Given the description of an element on the screen output the (x, y) to click on. 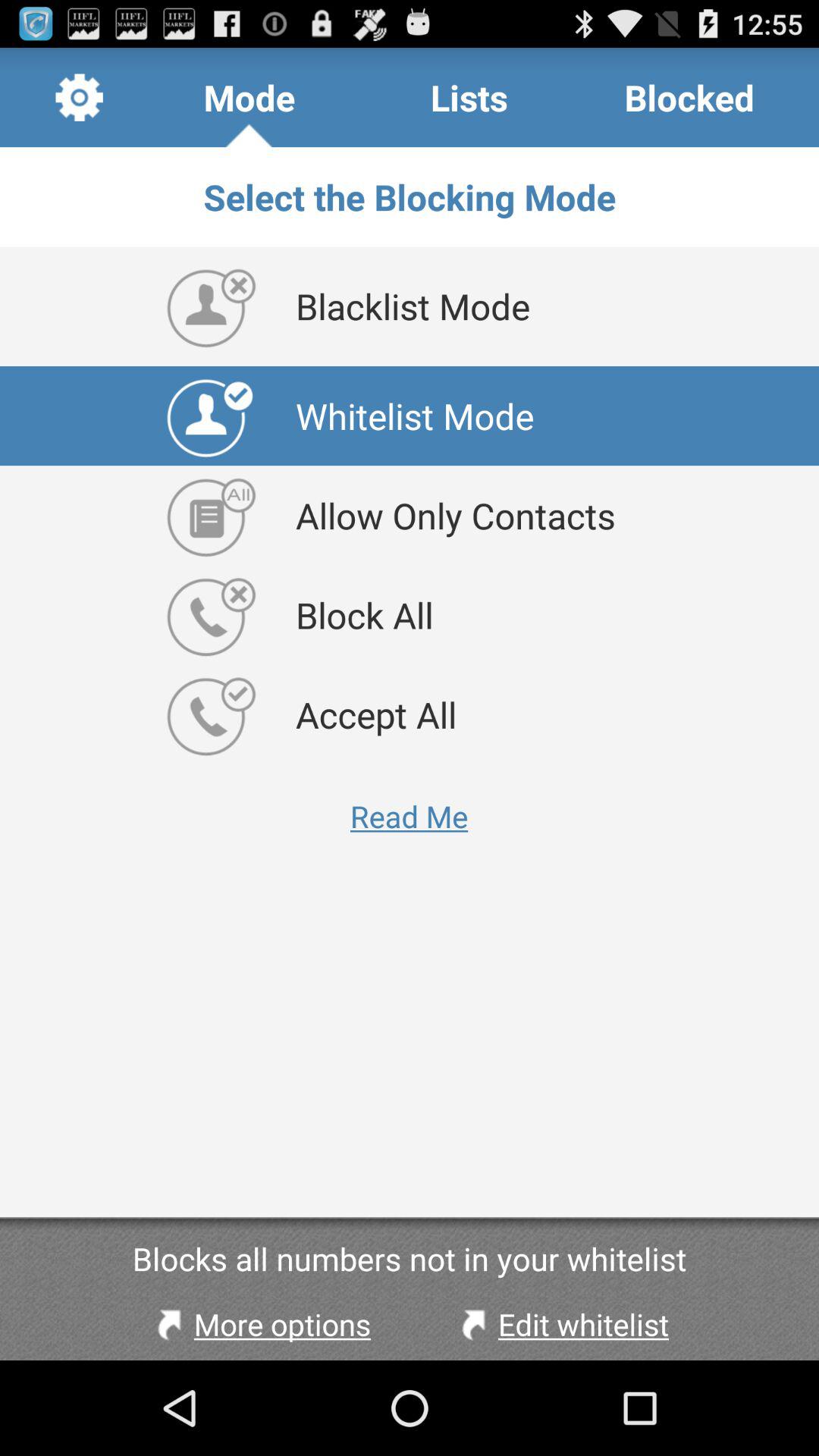
select the app to the right of mode app (469, 97)
